Given the description of an element on the screen output the (x, y) to click on. 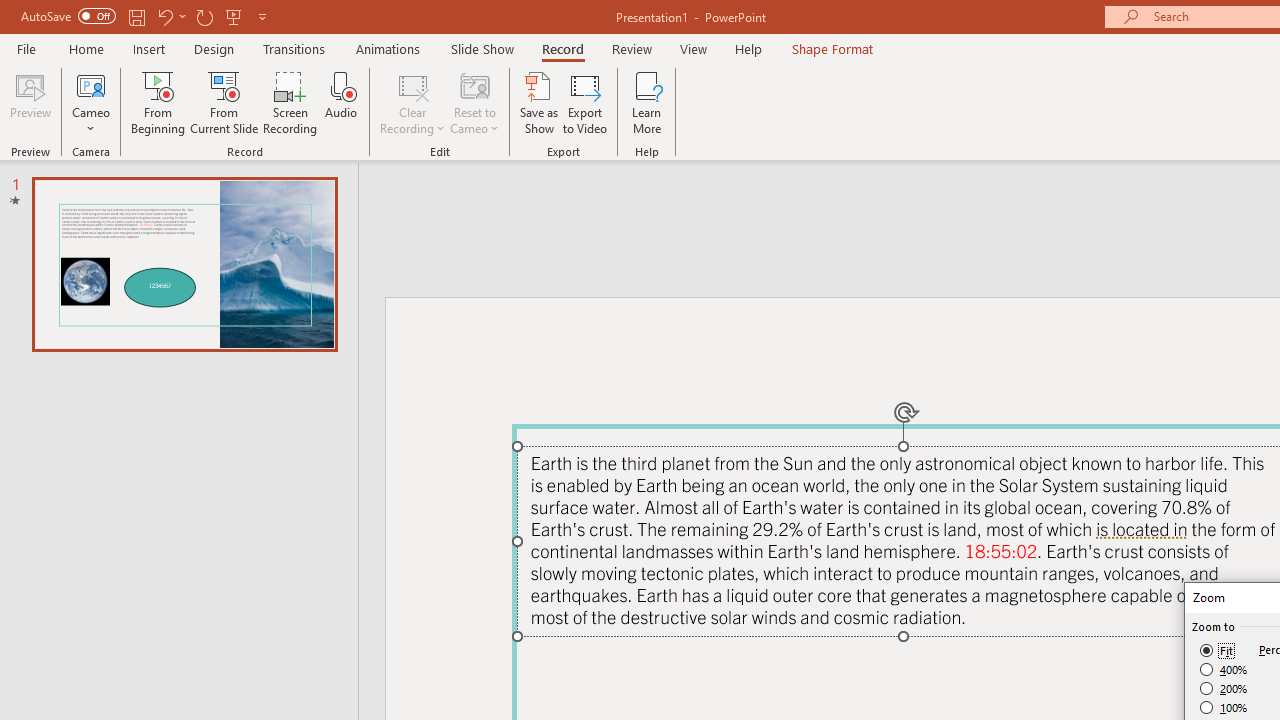
400% (1224, 669)
